Given the description of an element on the screen output the (x, y) to click on. 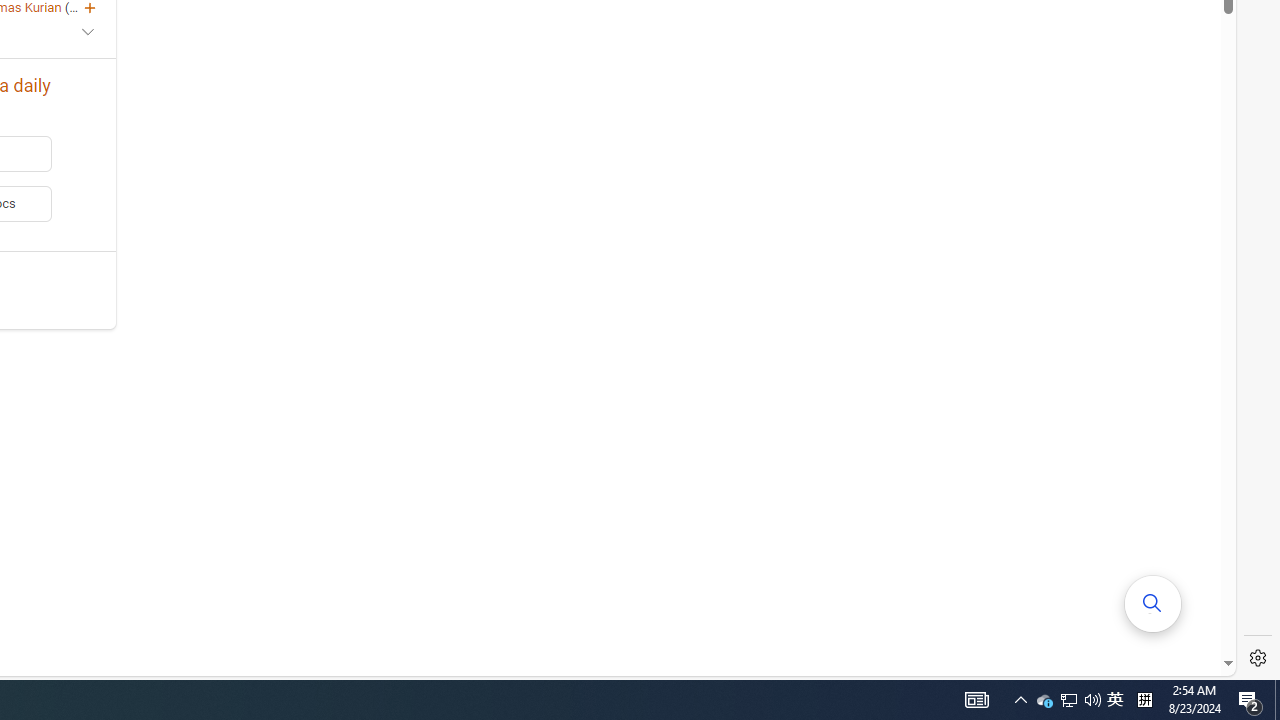
Search more (1153, 604)
AutomationID: mfa_root (1153, 603)
